Given the description of an element on the screen output the (x, y) to click on. 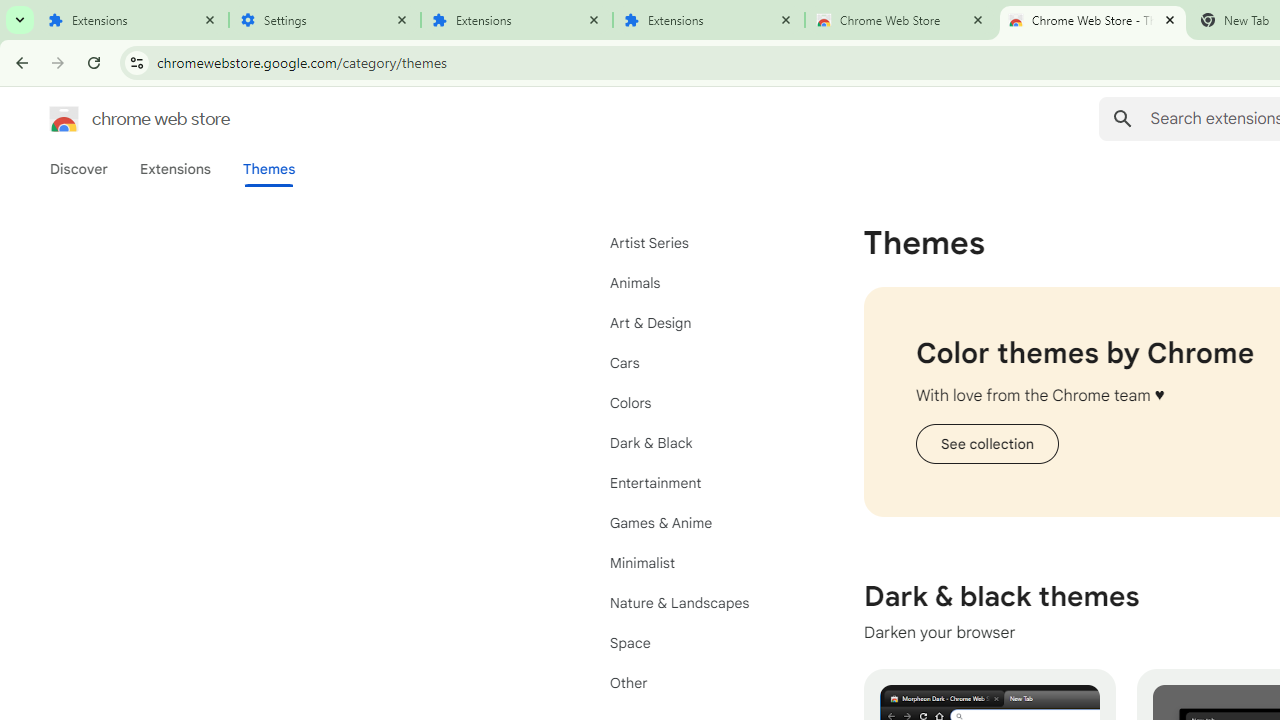
Artist Series (700, 242)
Chrome Web Store (901, 20)
Extensions (517, 20)
List of categories in Chrome Web Store. (700, 462)
Cars (700, 362)
Extensions (174, 169)
Art & Design (700, 322)
Nature & Landscapes (700, 602)
Chrome Web Store logo (63, 118)
Minimalist (700, 562)
Chrome Web Store - Themes (1093, 20)
